Given the description of an element on the screen output the (x, y) to click on. 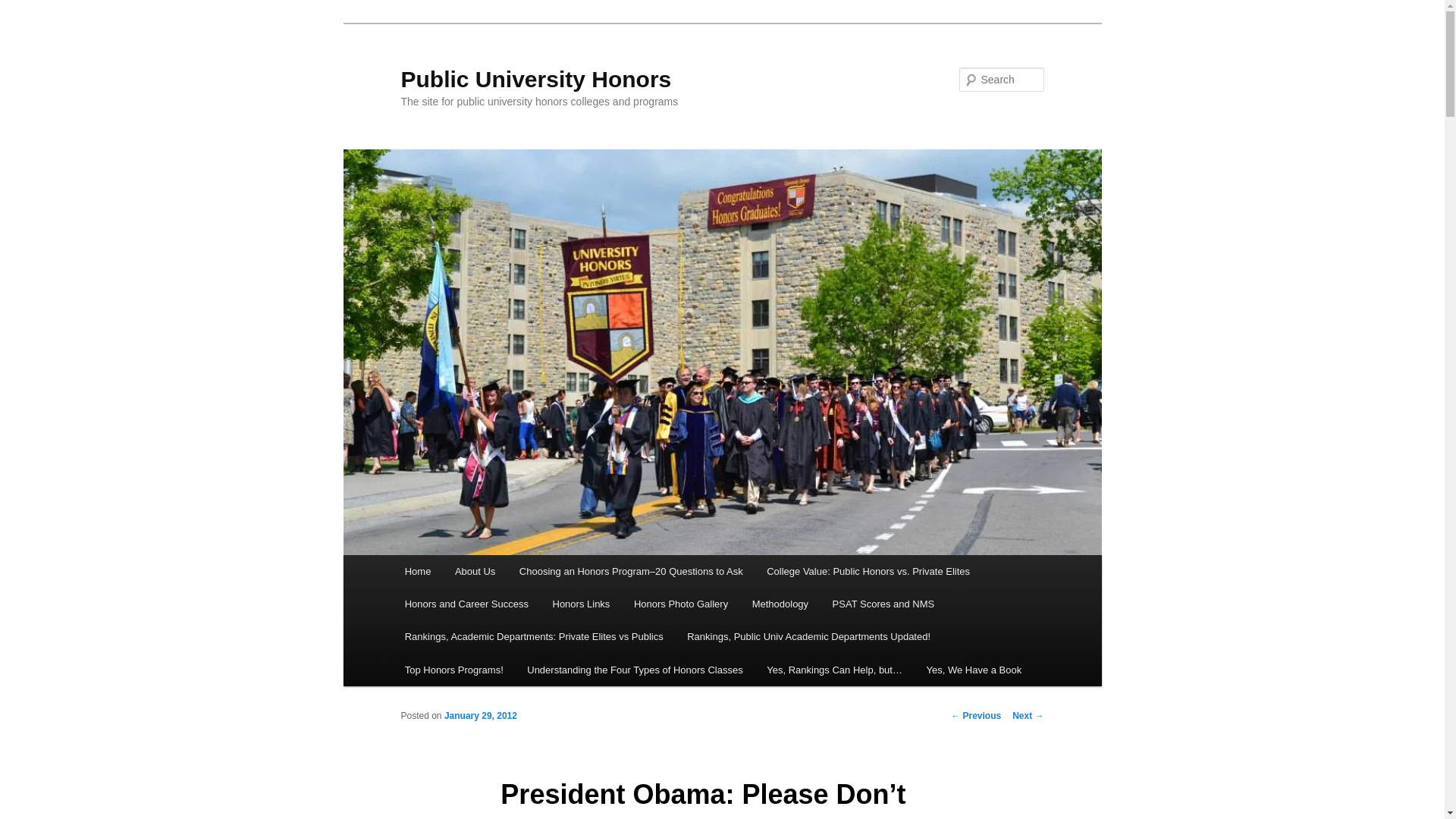
Home (417, 571)
Honors Links (580, 603)
9:51 pm (480, 715)
Methodology (780, 603)
Public University Honors (535, 78)
January 29, 2012 (480, 715)
Top Honors Programs! (454, 669)
PSAT Scores and NMS (883, 603)
College Value: Public Honors vs. Private Elites (867, 571)
Understanding the Four Types of Honors Classes (635, 669)
Honors and Career Success (466, 603)
Rankings, Public Univ Academic Departments Updated! (808, 635)
Search (24, 8)
About Us (474, 571)
